Given the description of an element on the screen output the (x, y) to click on. 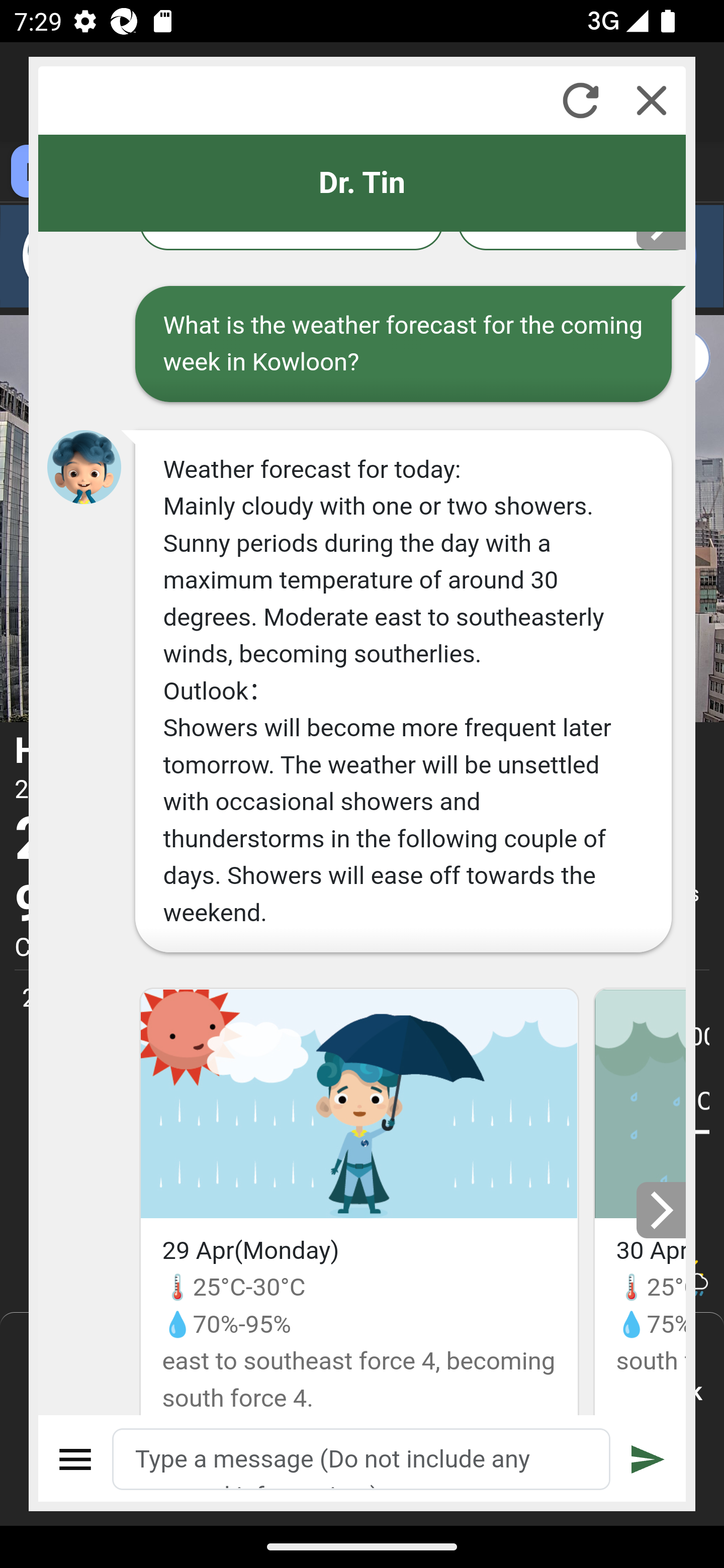
Refresh (580, 100)
Close (651, 100)
Next slide (661, 1209)
Menu (75, 1458)
Submit (648, 1458)
